Given the description of an element on the screen output the (x, y) to click on. 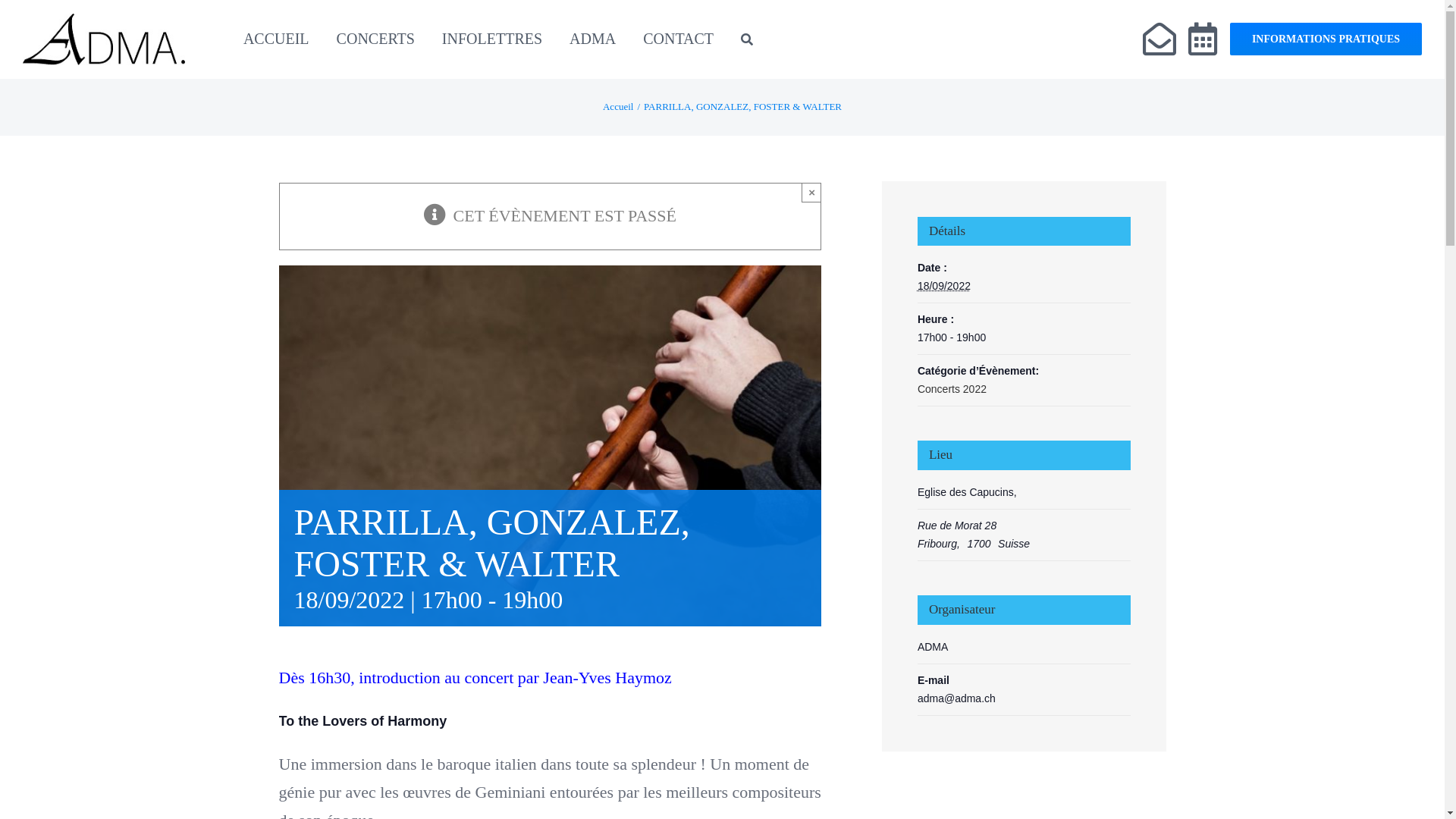
Concerts 2022 Element type: text (951, 388)
ADMA Element type: text (592, 39)
INFOLETTRES Element type: text (492, 39)
Consultez les concerts Element type: hover (1202, 39)
INFORMATIONS PRATIQUES Element type: text (1325, 39)
CONCERTS Element type: text (375, 39)
Accueil Element type: text (617, 106)
ACCUEIL Element type: text (276, 39)
RECHERCHER Element type: hover (746, 39)
Ecrivez un email Element type: hover (1159, 39)
CONTACT Element type: text (678, 39)
